Given the description of an element on the screen output the (x, y) to click on. 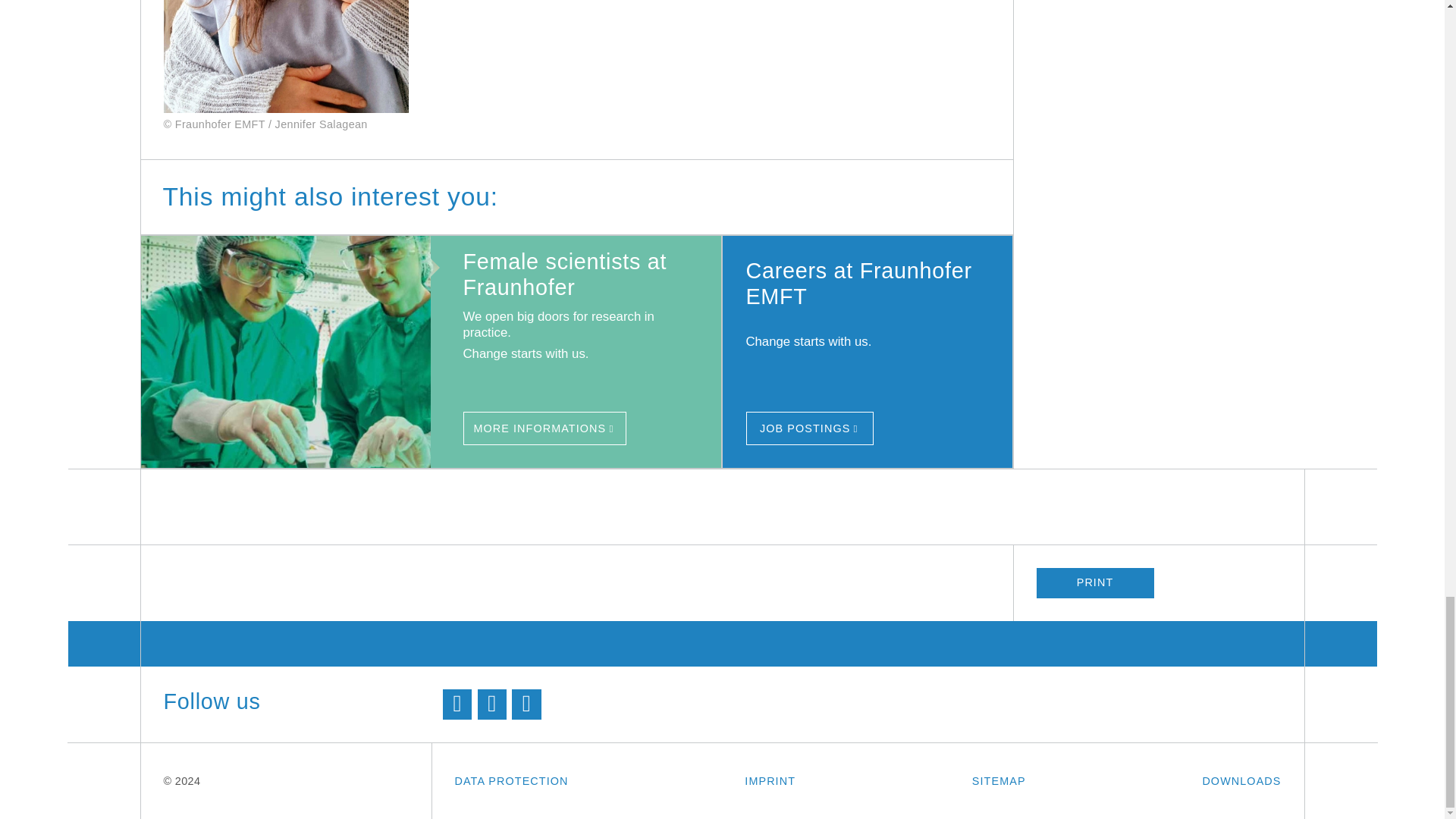
Visit us on Instagram (526, 704)
Wissenschaftlerinnen bei Fraunhofer (544, 428)
Wissenschaftlerinnen bei Fraunhofer (295, 351)
